Given the description of an element on the screen output the (x, y) to click on. 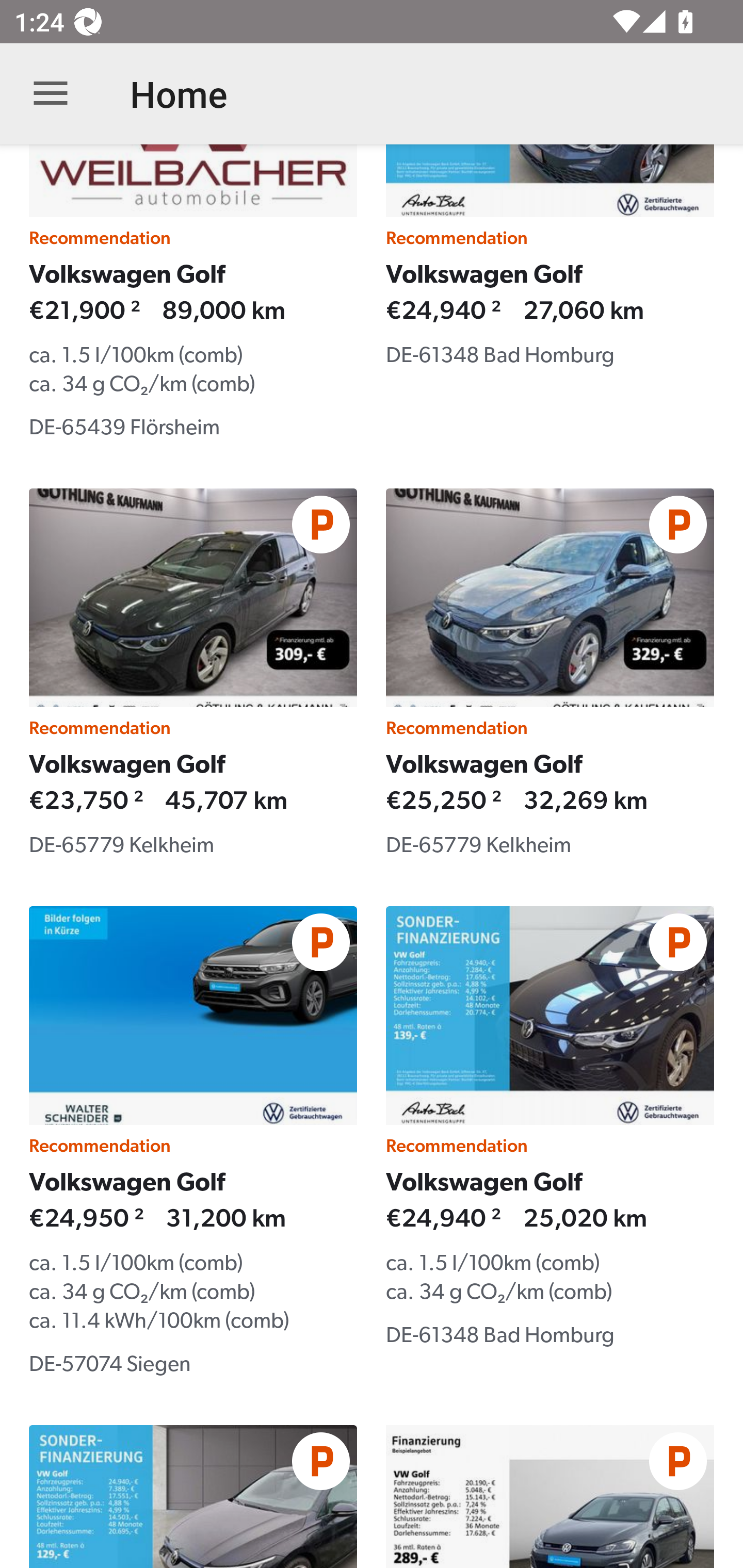
Open navigation bar (50, 93)
